Given the description of an element on the screen output the (x, y) to click on. 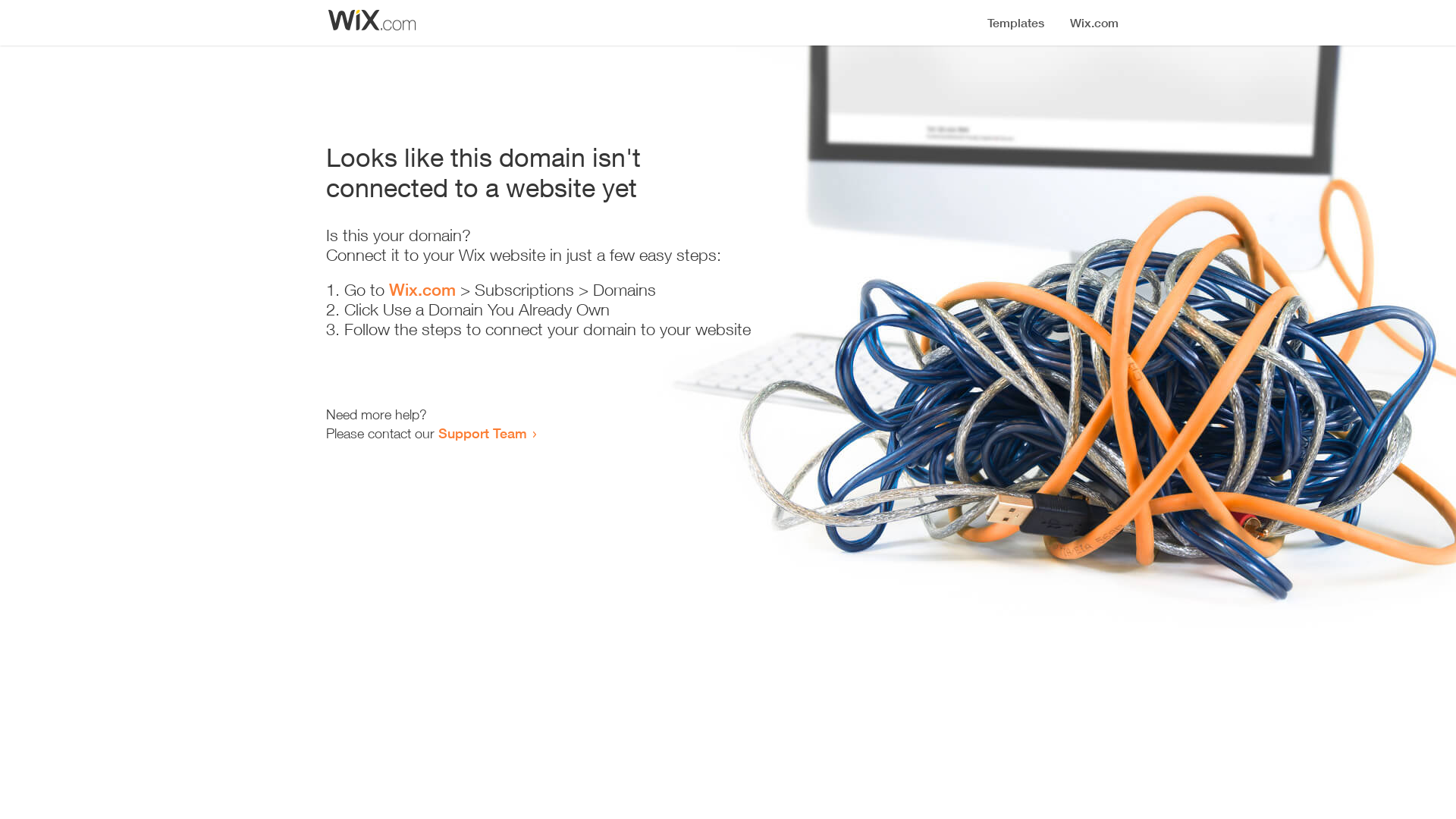
Support Team Element type: text (482, 432)
Wix.com Element type: text (422, 289)
